Given the description of an element on the screen output the (x, y) to click on. 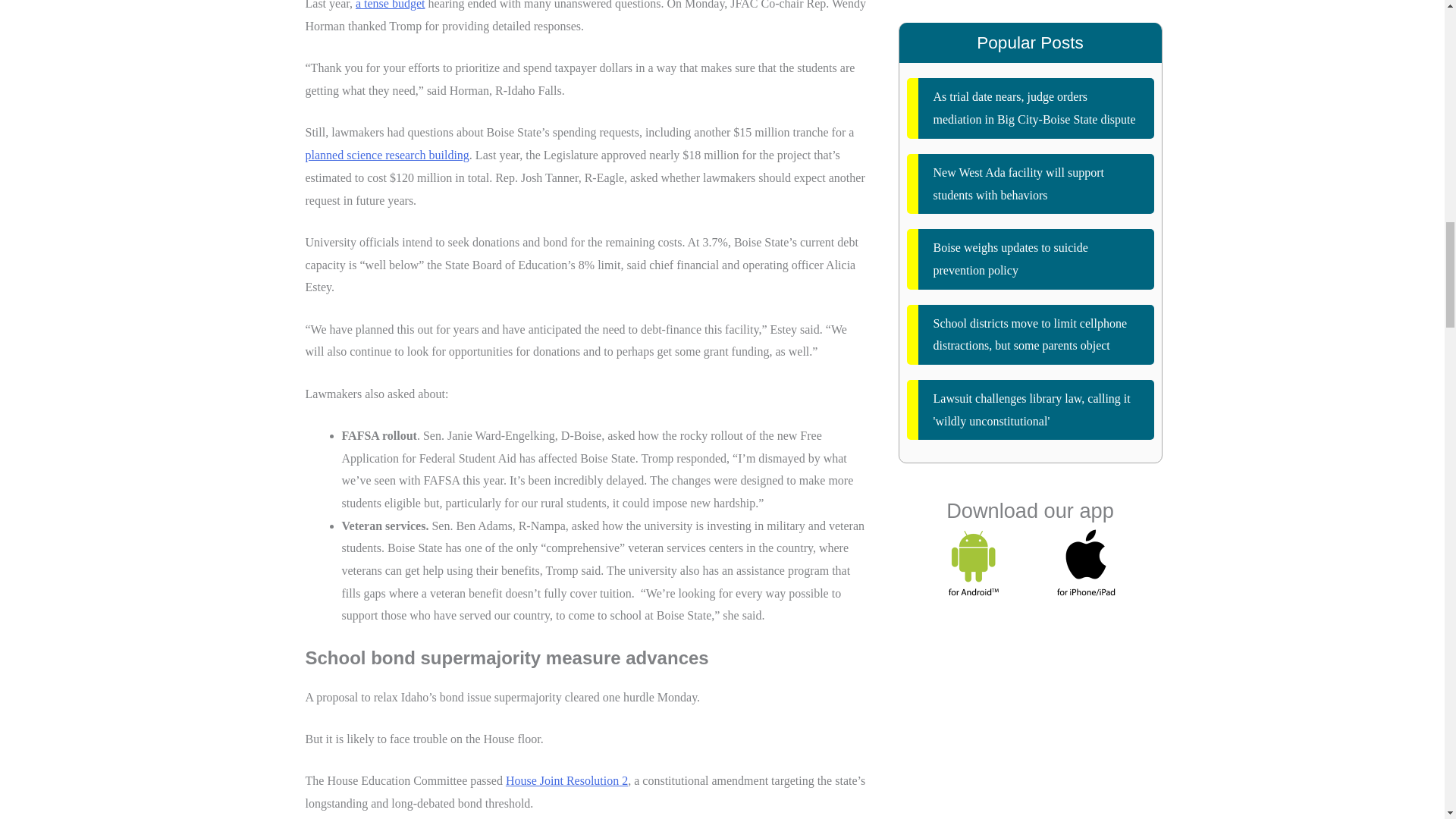
planned science research building (386, 154)
House Joint Resolution 2 (566, 780)
a tense budget (390, 4)
